Given the description of an element on the screen output the (x, y) to click on. 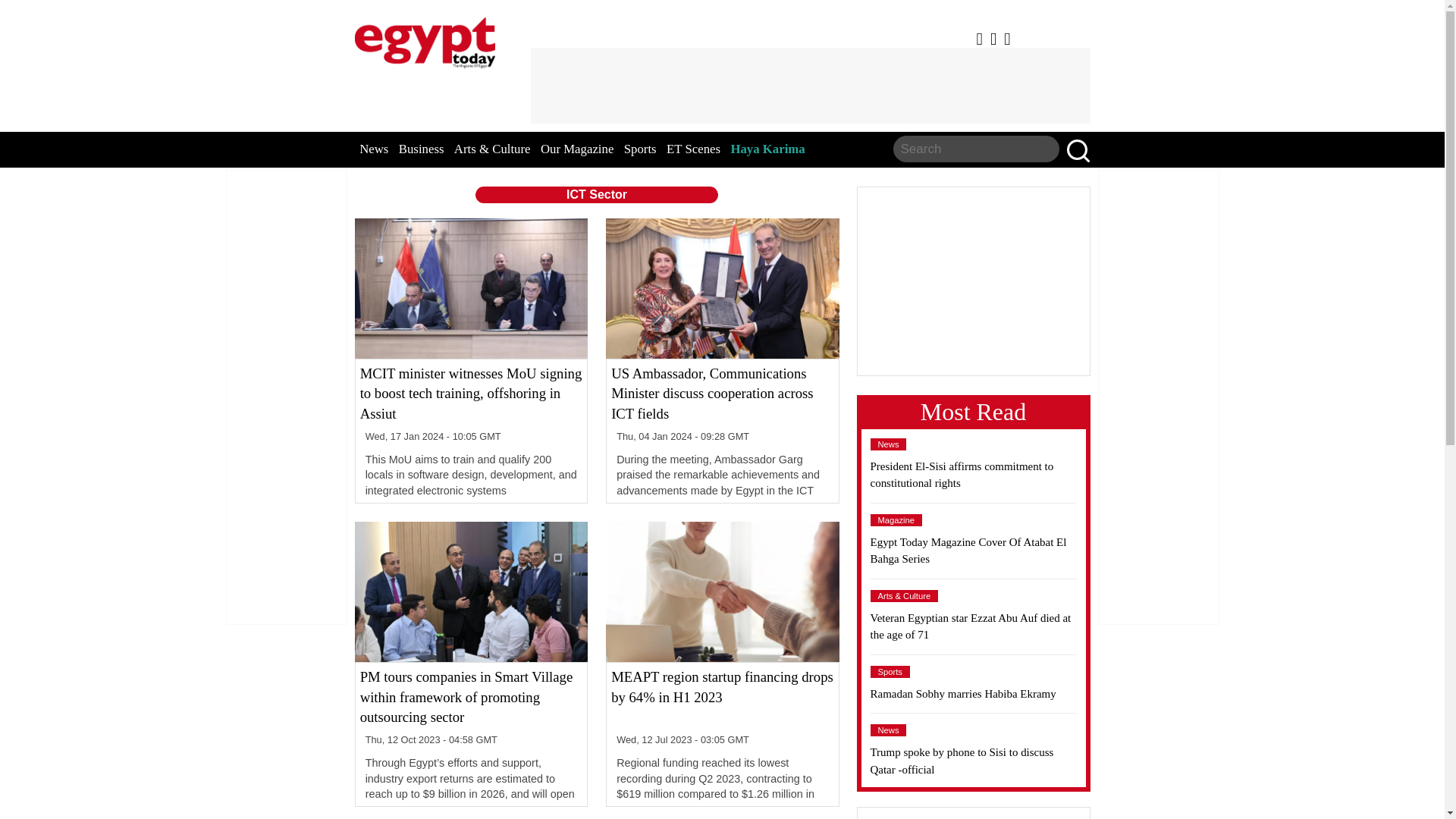
Sports (640, 149)
Veteran Egyptian star Ezzat Abu Auf died at the age of 71 (973, 626)
Sports (890, 671)
Egypt Today Magazine Cover Of Atabat El Bahga Series (973, 550)
News (888, 444)
Our Magazine (576, 149)
Business (421, 149)
